Given the description of an element on the screen output the (x, y) to click on. 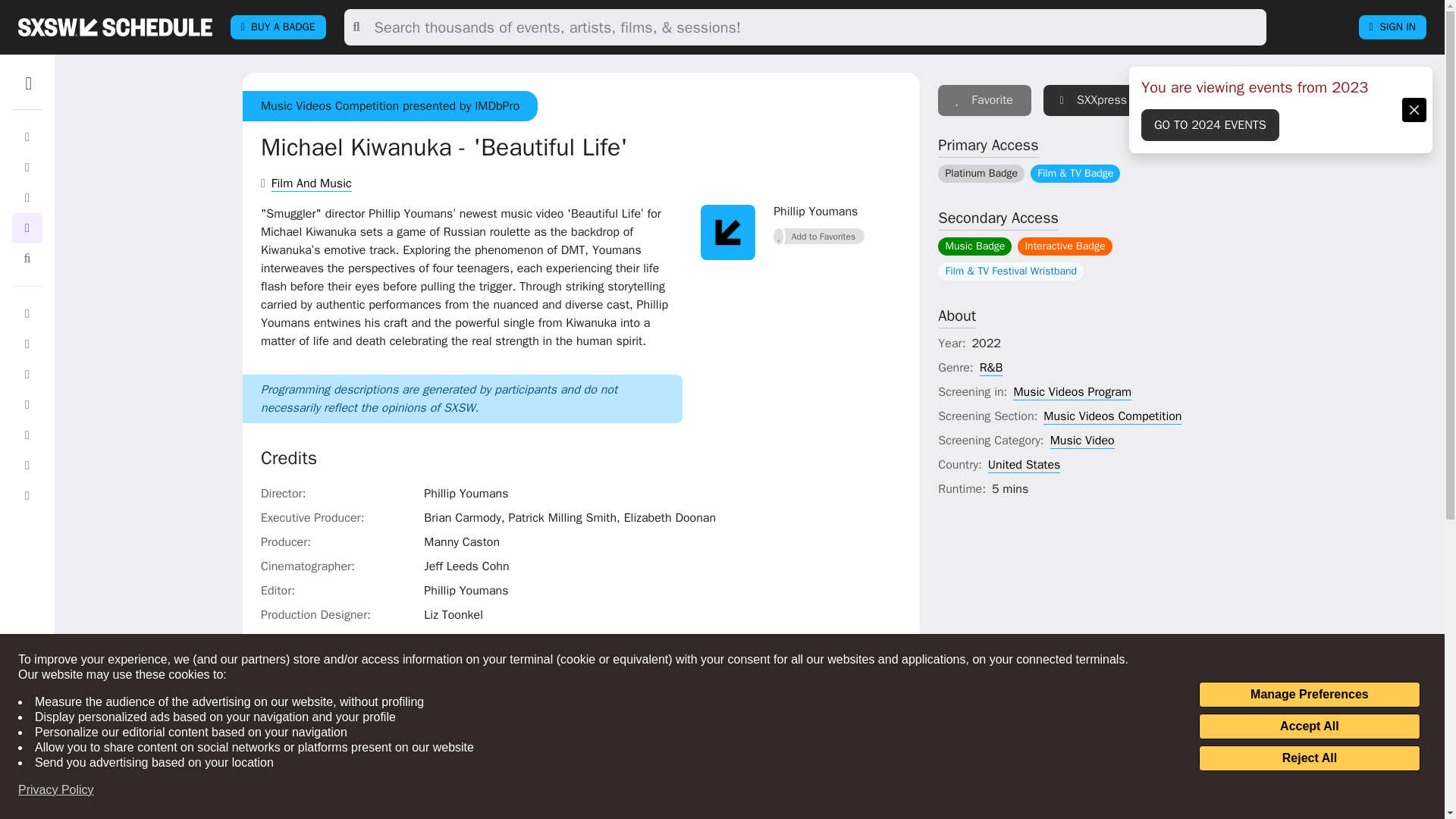
Manage Preferences (1309, 694)
Reject All (1309, 758)
Privacy Policy (55, 789)
sxsw SCHEDULE (114, 27)
Sign In to add to your favorites. (818, 236)
Accept All (1309, 726)
GO TO 2024 EVENTS (1210, 124)
Film And Music (311, 183)
BUY A BADGE (278, 27)
SIGN IN (1392, 27)
